Given the description of an element on the screen output the (x, y) to click on. 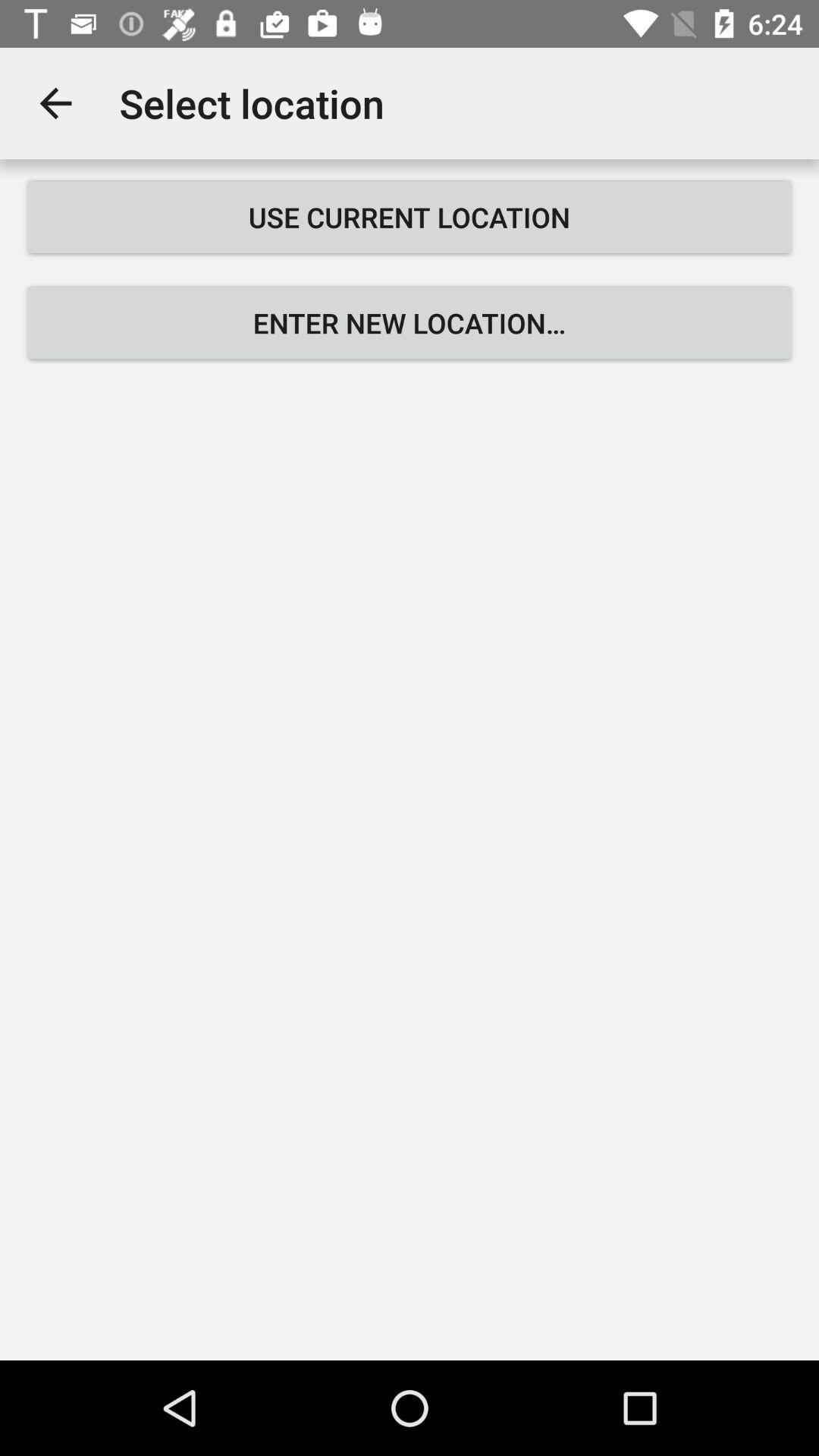
launch the icon below use current location icon (409, 322)
